Given the description of an element on the screen output the (x, y) to click on. 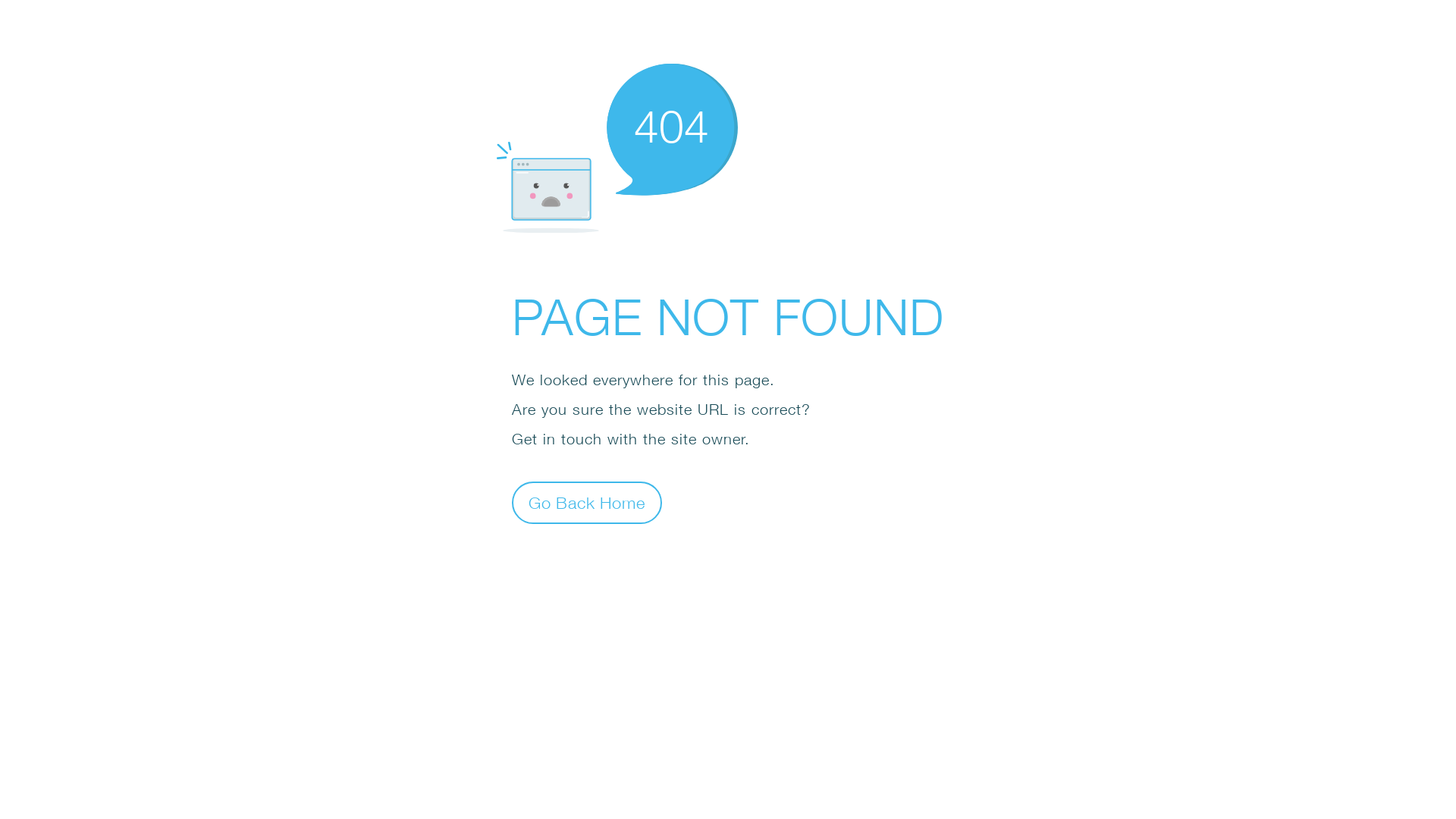
Go Back Home Element type: text (586, 502)
